Given the description of an element on the screen output the (x, y) to click on. 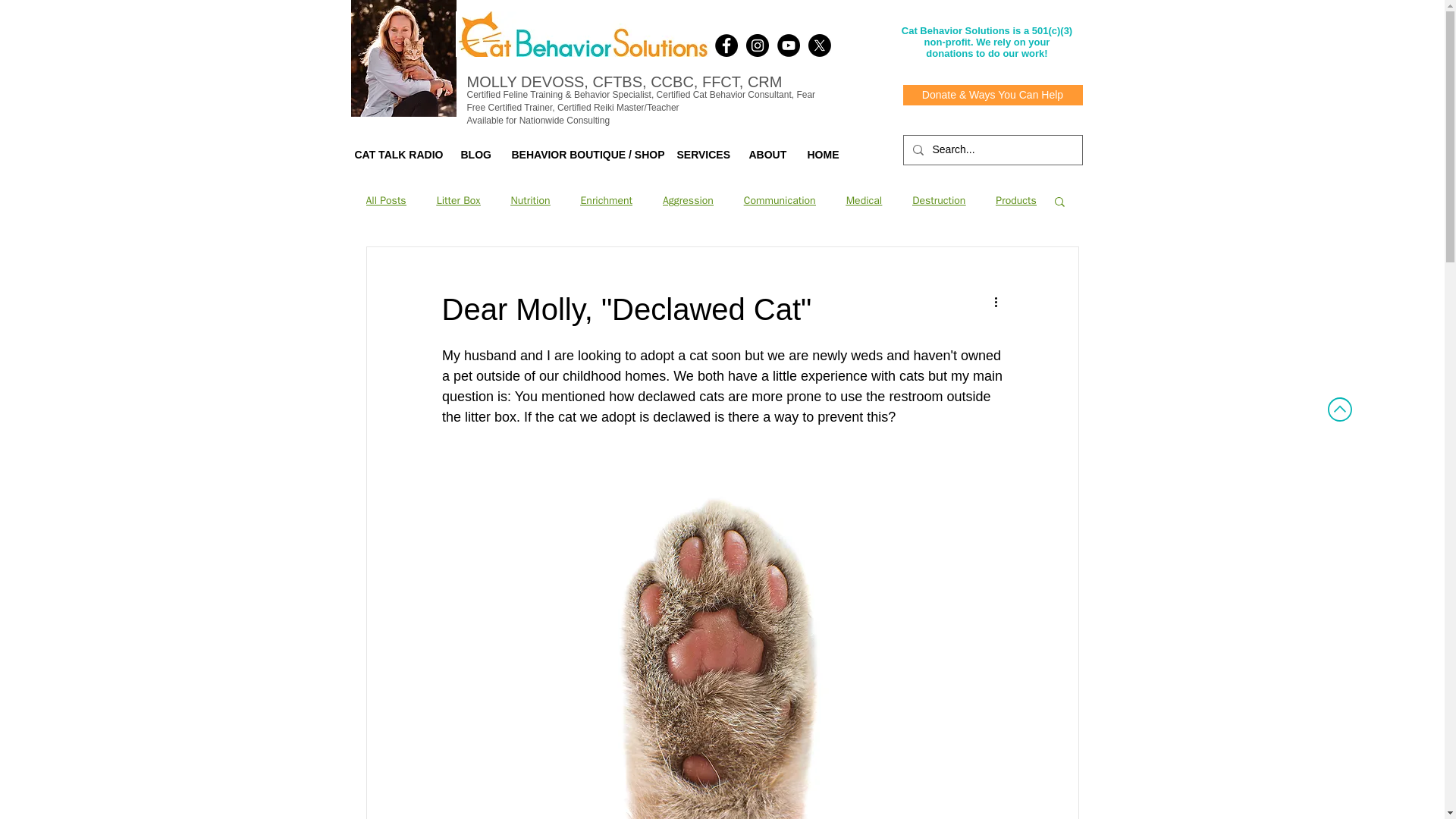
Enrichment (606, 201)
All Posts (385, 201)
Destruction (938, 201)
CAT TALK RADIO (395, 154)
Medical (863, 201)
HOME (822, 154)
Litter Box (458, 201)
Aggression (687, 201)
Nutrition (530, 201)
Communication (779, 201)
